Given the description of an element on the screen output the (x, y) to click on. 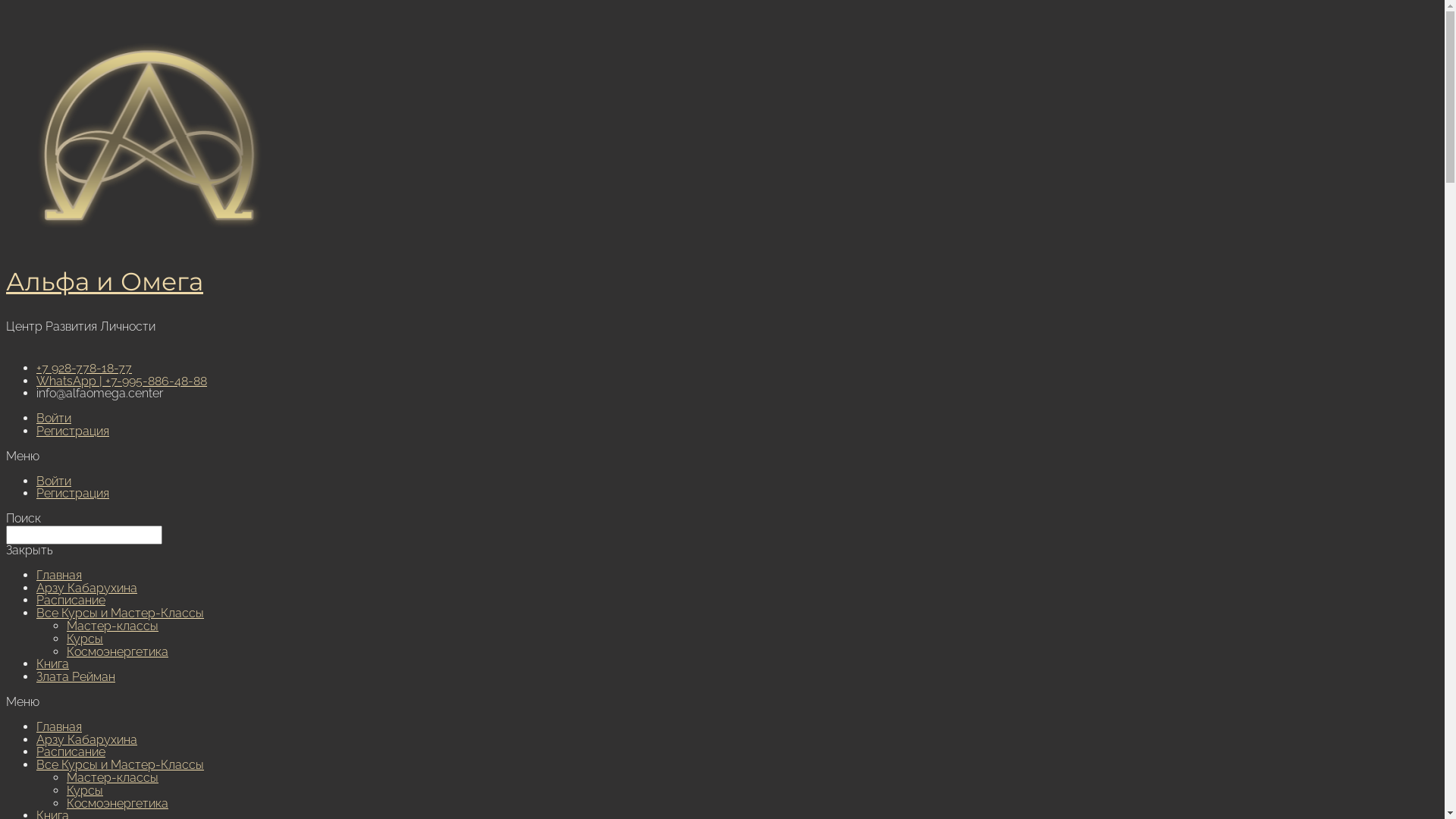
+7 928-778-18-77 Element type: text (83, 367)
WhatsApp | +7-995-886-48-88 Element type: text (121, 380)
